Given the description of an element on the screen output the (x, y) to click on. 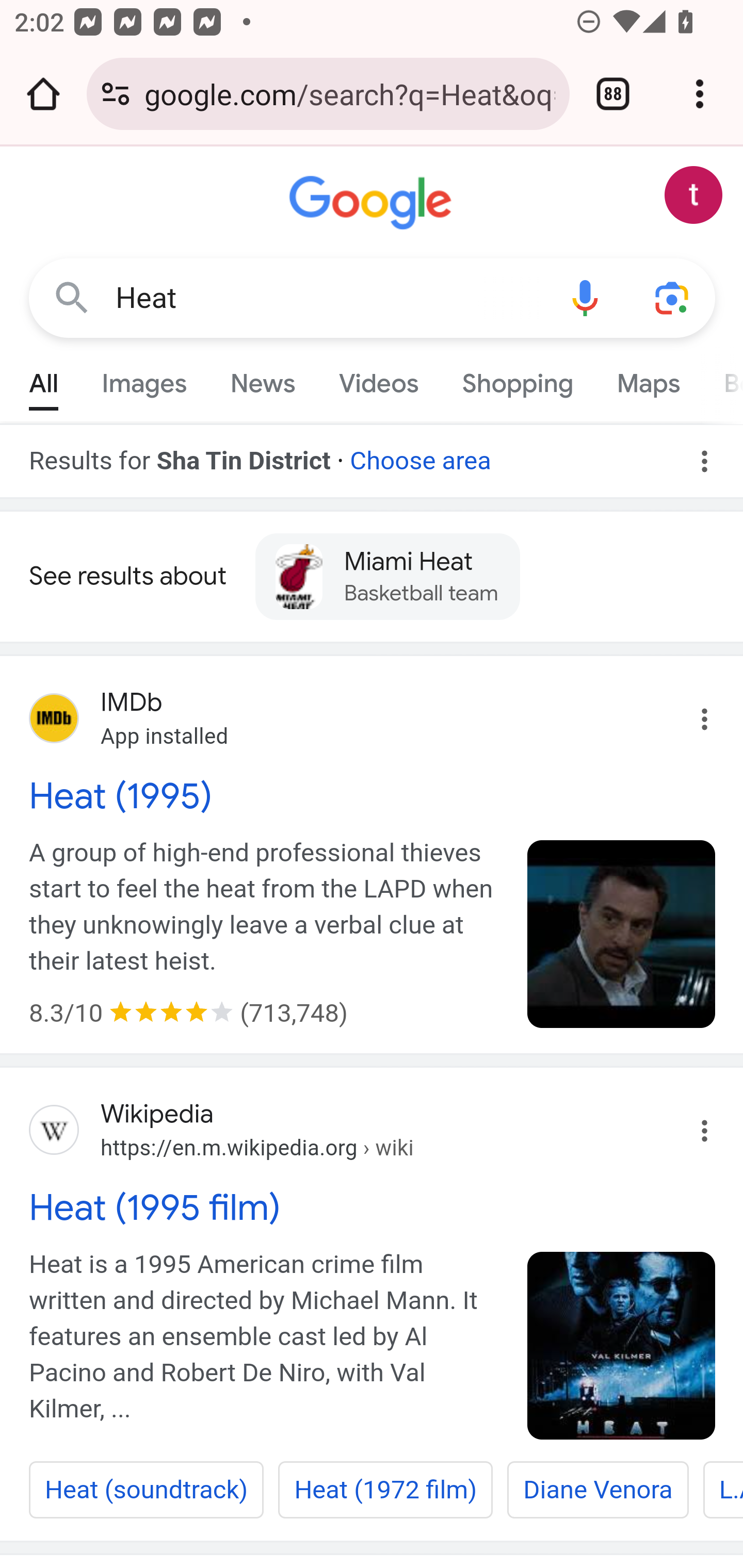
Open the home page (43, 93)
Connection is secure (115, 93)
Switch or close tabs (612, 93)
Customize and control Google Chrome (699, 93)
Google (372, 203)
Google Search (71, 296)
Search using your camera or photos (672, 296)
Heat (328, 297)
Images (144, 378)
News (262, 378)
Videos (378, 378)
Shopping (516, 378)
Maps (647, 378)
Choose area (419, 453)
Heat (1995) (372, 795)
tt0113277 (621, 933)
Heat (1995 film) (372, 1207)
Heat_(1995_film) (621, 1345)
Heat (soundtrack) (146, 1489)
Heat (1972 film) (385, 1489)
Diane Venora (597, 1489)
